Given the description of an element on the screen output the (x, y) to click on. 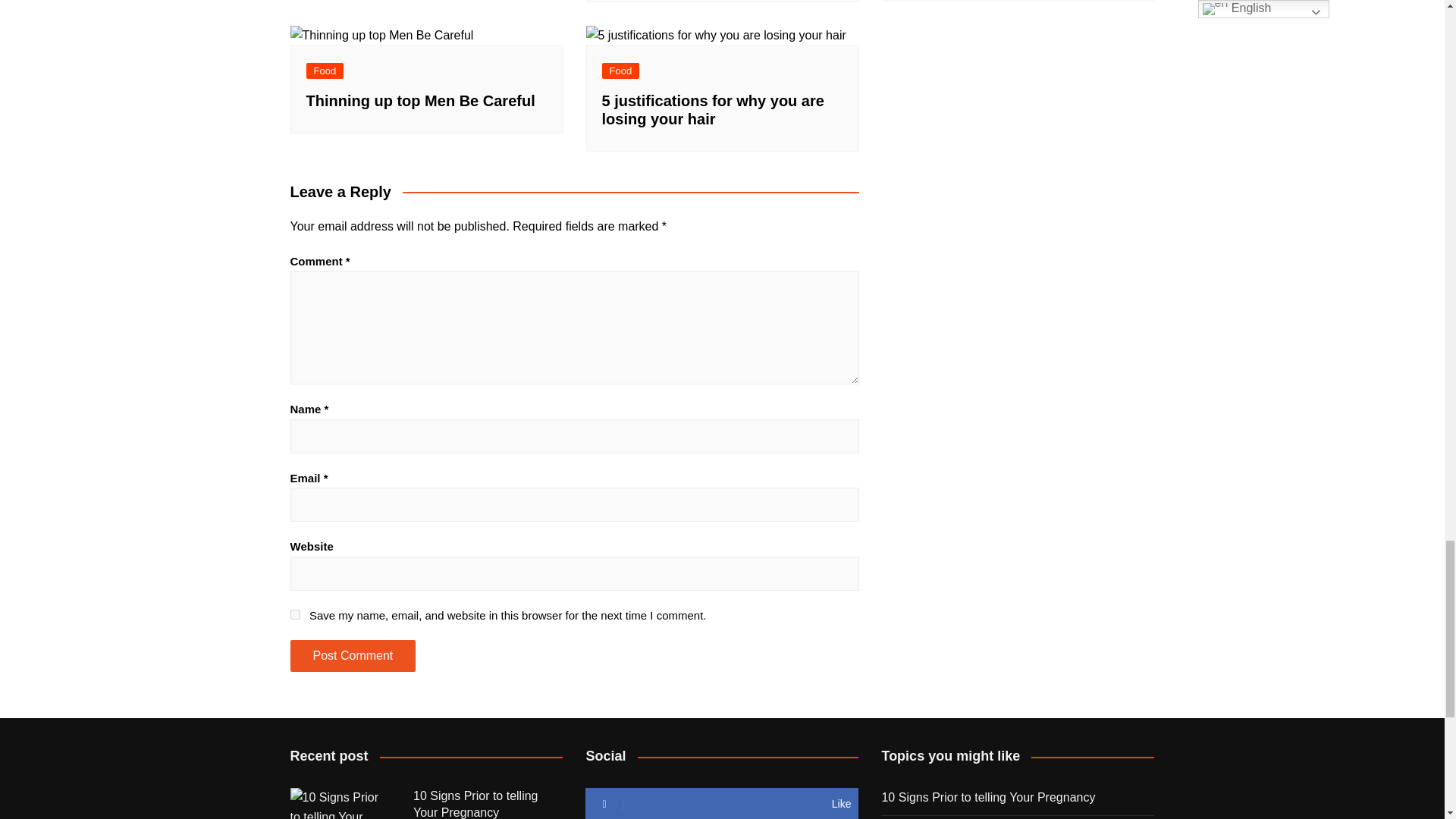
Post Comment (351, 655)
10 Signs Prior to telling Your Pregnancy (339, 803)
Thinning up top Men Be Careful (381, 35)
5 justifications for why you are losing your hair (715, 35)
yes (294, 614)
